Given the description of an element on the screen output the (x, y) to click on. 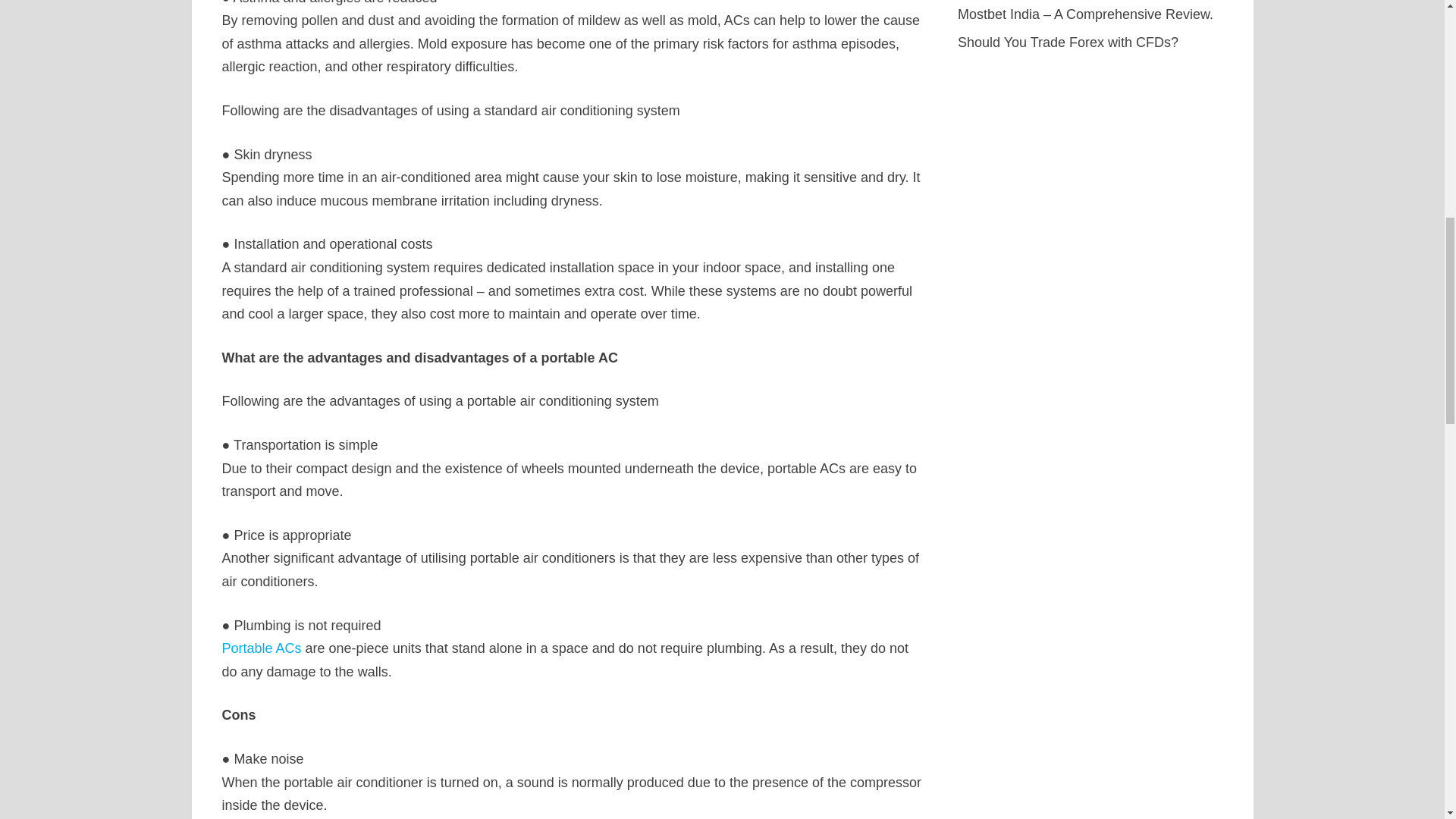
Portable ACs (261, 648)
